Given the description of an element on the screen output the (x, y) to click on. 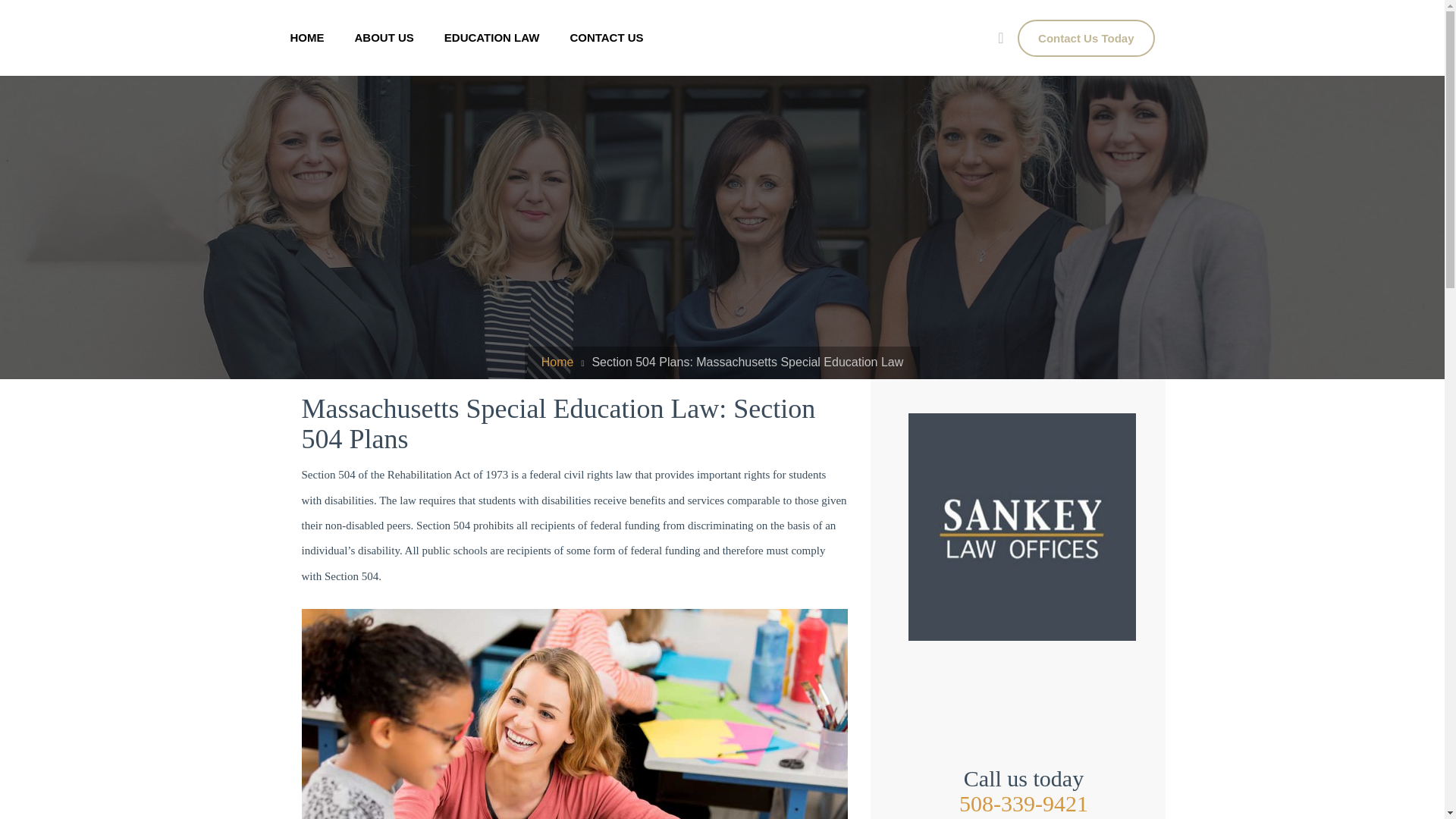
EDUCATION LAW (491, 38)
ABOUT US (384, 38)
CONTACT US (606, 38)
Contact Us Today (1085, 37)
